Given the description of an element on the screen output the (x, y) to click on. 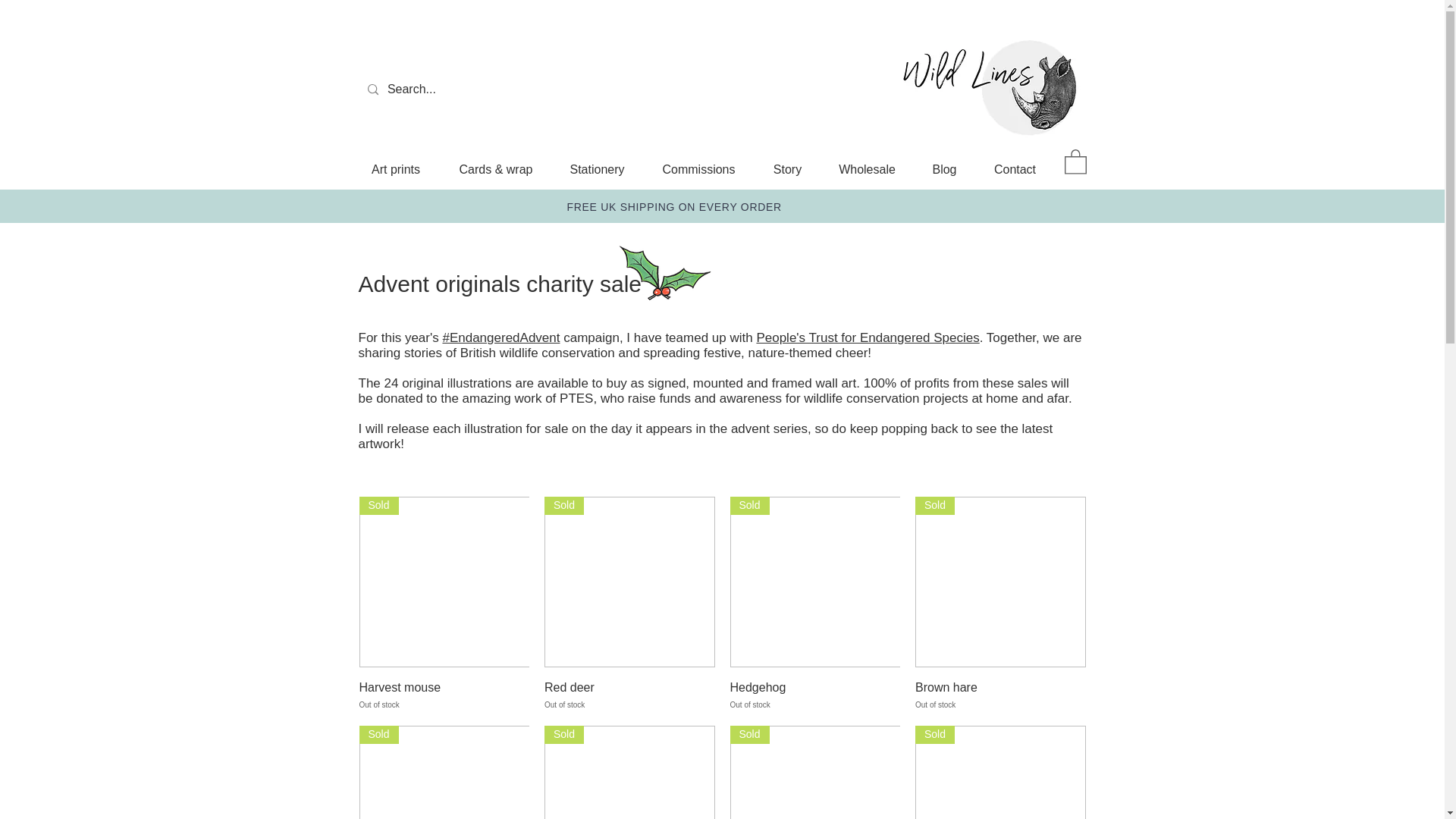
Wholesale (866, 168)
Sold (444, 581)
Sold (1000, 581)
Sold (629, 772)
Sold (444, 772)
Contact (1014, 168)
Story (787, 168)
Stationery (596, 168)
Art prints (395, 168)
